Given the description of an element on the screen output the (x, y) to click on. 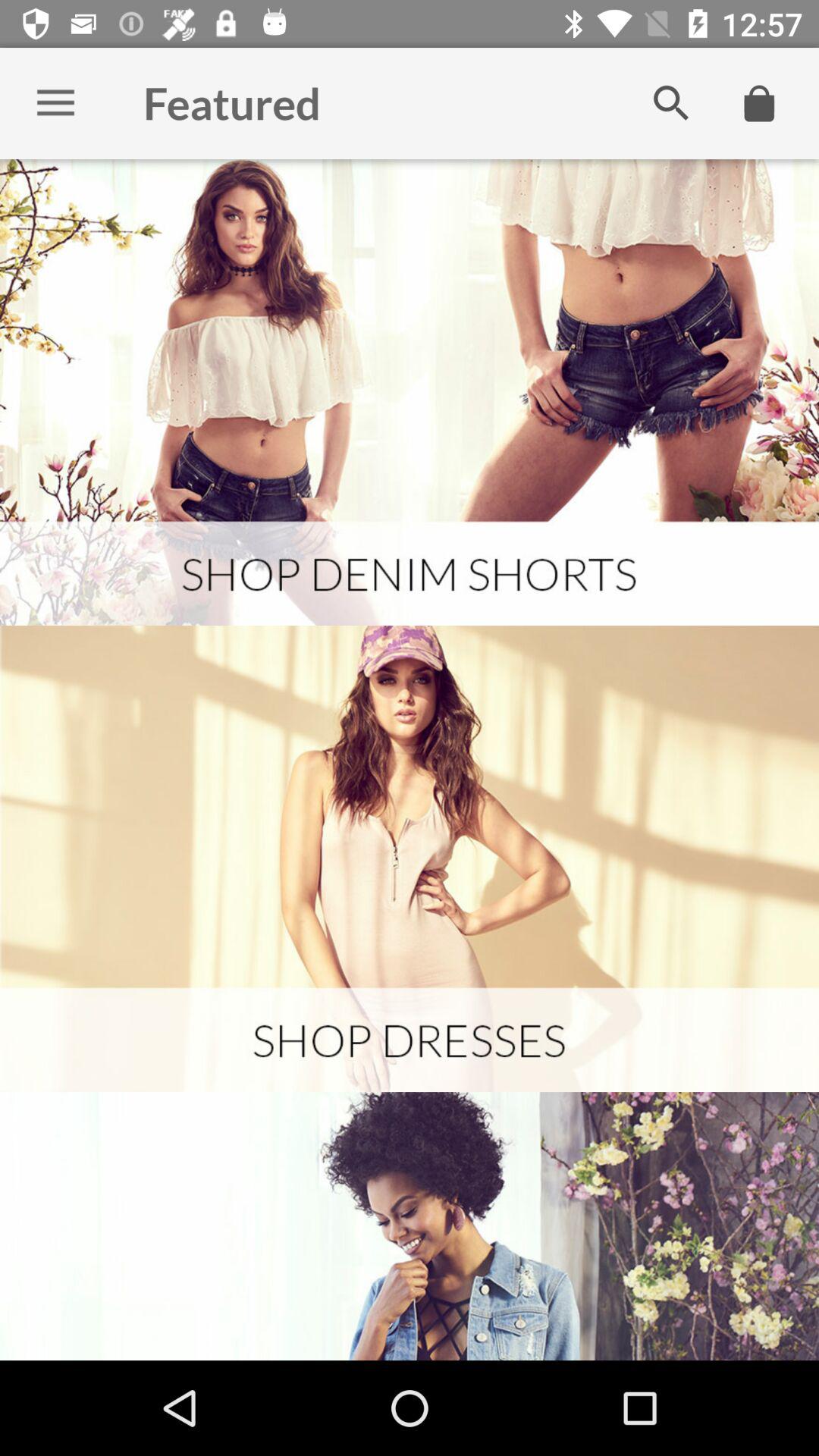
see shop dresses (409, 858)
